Given the description of an element on the screen output the (x, y) to click on. 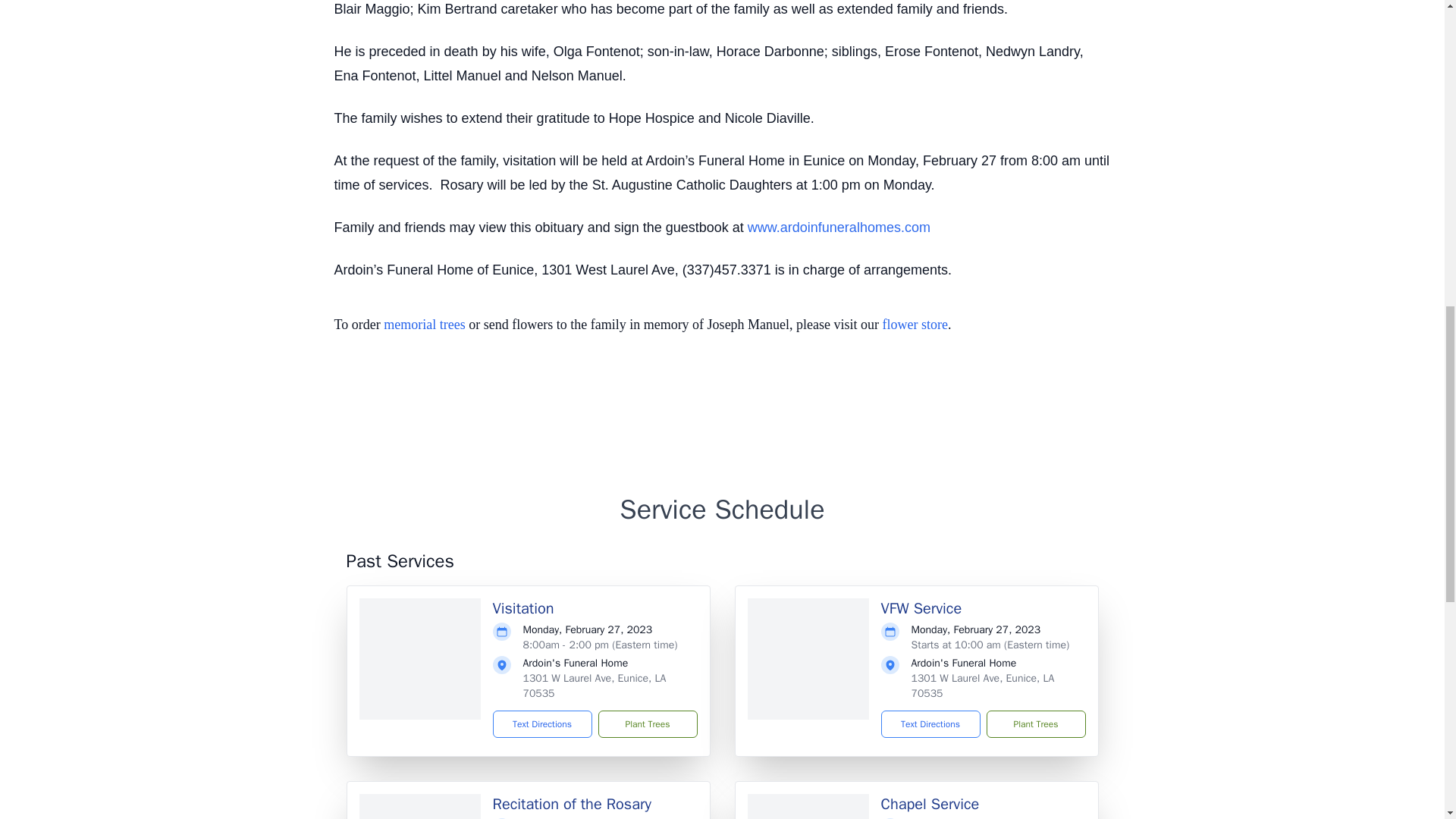
Plant Trees (646, 723)
1301 W Laurel Ave, Eunice, LA 70535 (982, 685)
Plant Trees (1034, 723)
Text Directions (542, 723)
flower store (914, 324)
www.ardoinfuneralhomes.com (839, 227)
memorial trees (424, 324)
1301 W Laurel Ave, Eunice, LA 70535 (594, 685)
Text Directions (929, 723)
